Given the description of an element on the screen output the (x, y) to click on. 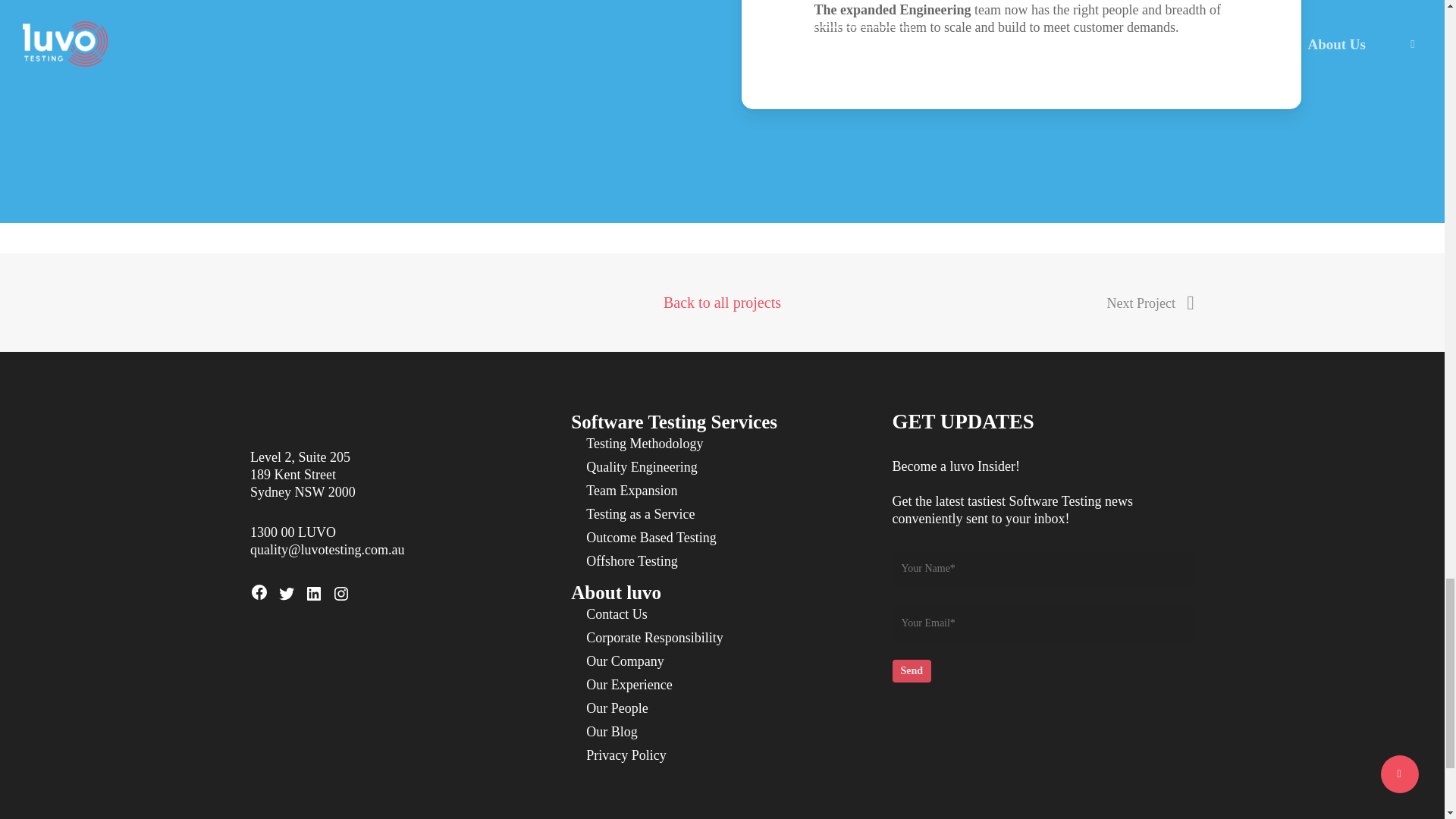
Back to all projects (721, 298)
Send (911, 671)
Next Project (1149, 302)
